Given the description of an element on the screen output the (x, y) to click on. 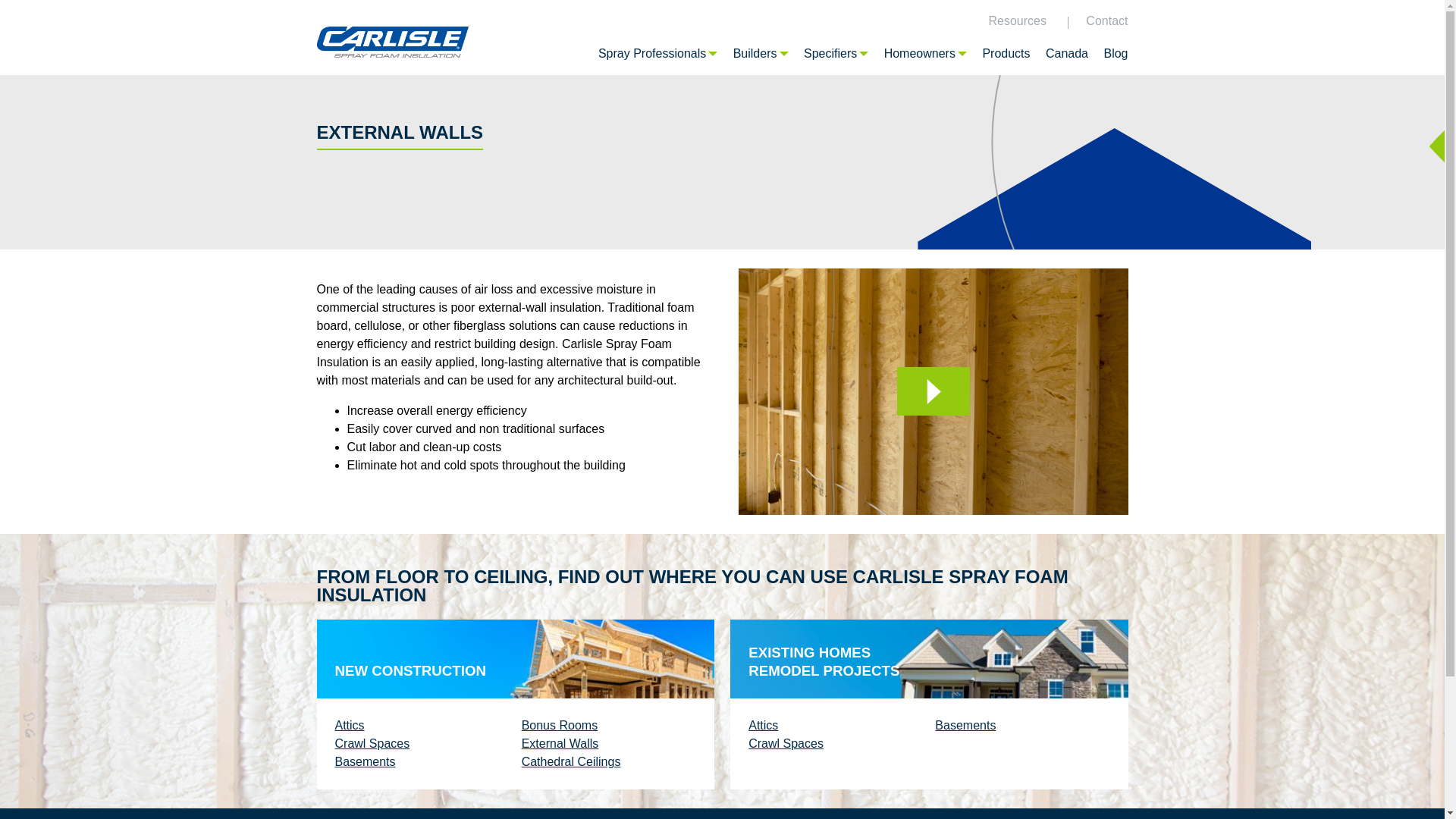
Basements (365, 761)
Blog (1114, 52)
Homeowners (924, 52)
Crawl Spaces (372, 743)
Specifiers (835, 52)
Spray Professionals (657, 52)
Basements (964, 725)
Products (1005, 52)
Bonus Rooms (559, 725)
Resources (1016, 20)
Cathedral Ceilings (571, 761)
Crawl Spaces (786, 743)
External Walls (559, 743)
Contact (1106, 20)
Attics (762, 725)
